Given the description of an element on the screen output the (x, y) to click on. 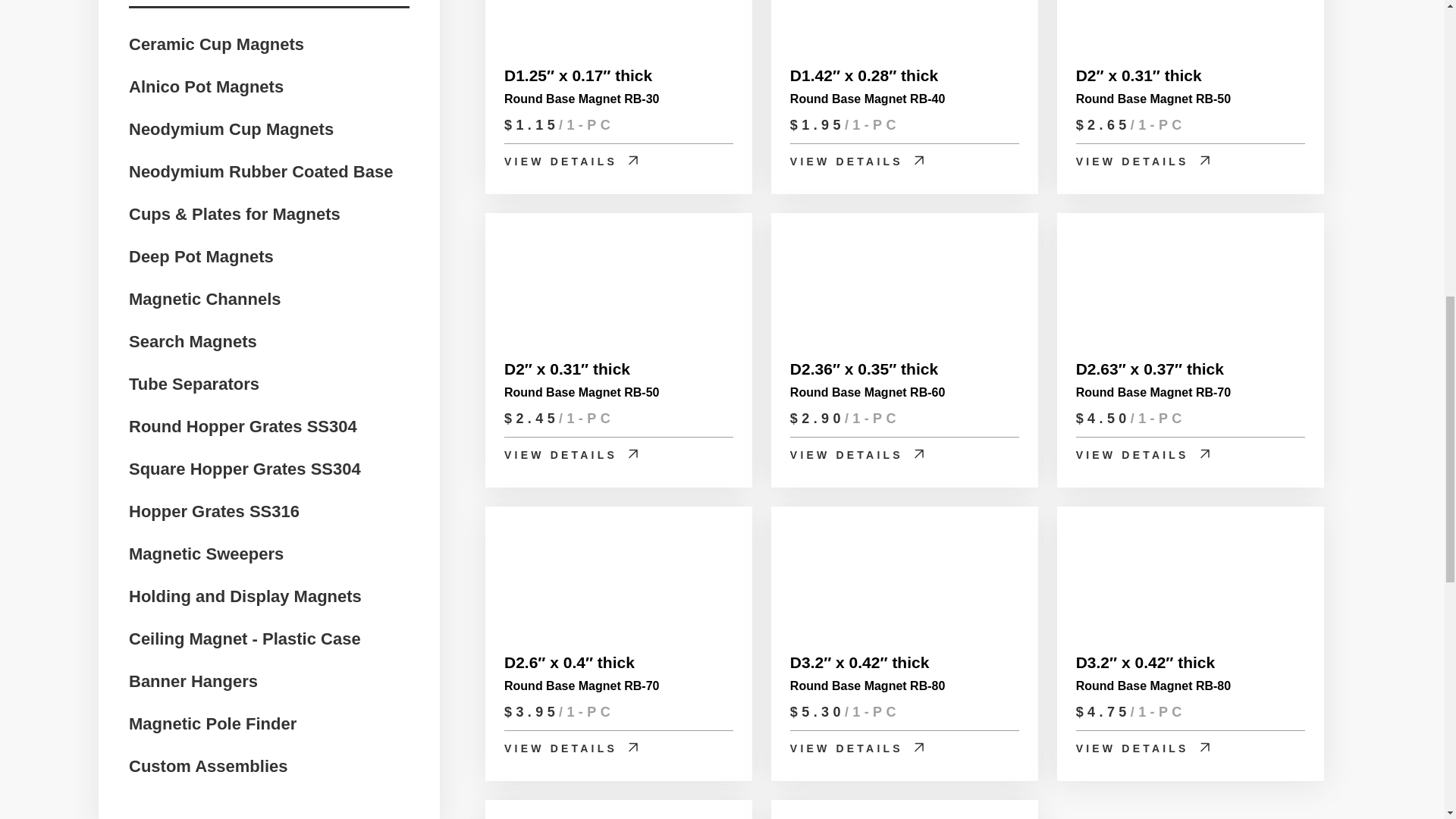
Magnetic Sweepers (206, 552)
Square Hopper Grates SS304 (245, 467)
Magnetic Pole Finder (213, 721)
Ceramic Cup Magnets (216, 42)
Magnetic Channels (205, 297)
Banner Hangers (193, 679)
Neodymium Cup Magnets (231, 127)
Round Hopper Grates SS304 (242, 424)
Neodymium Rubber Coated Base (261, 169)
Search Magnets (193, 340)
